Given the description of an element on the screen output the (x, y) to click on. 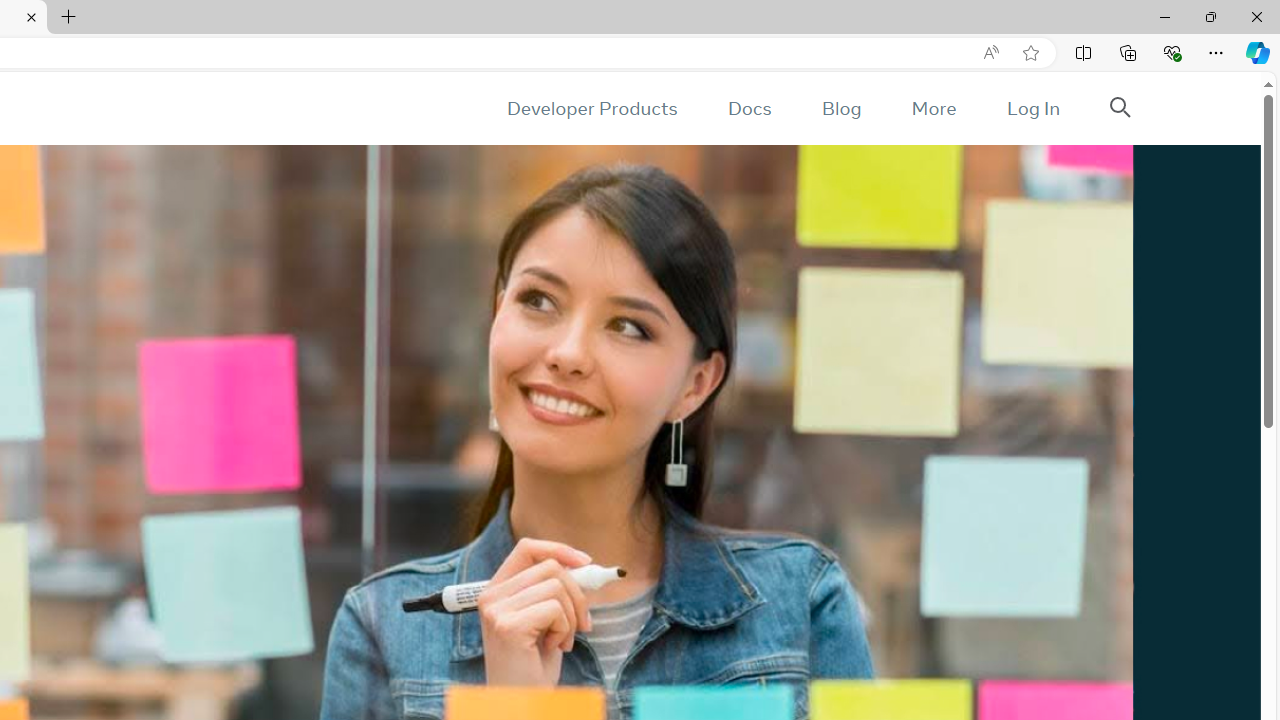
Log In (1032, 108)
Log In (1032, 108)
Developer Products (591, 108)
More (933, 108)
Blog (841, 108)
